Given the description of an element on the screen output the (x, y) to click on. 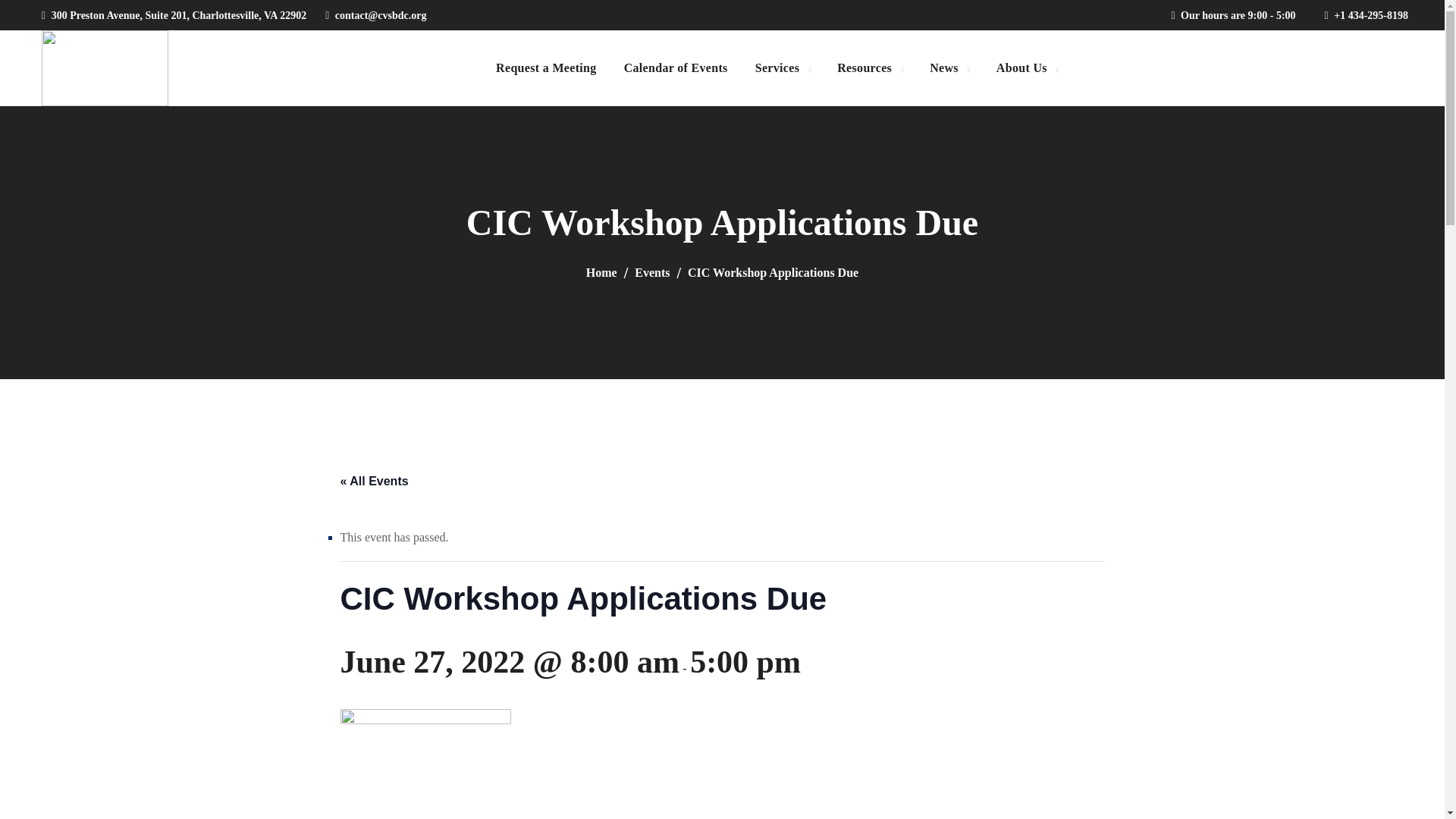
Calendar of Events (675, 68)
Search (1354, 143)
About Us (1026, 68)
Services (782, 68)
Resources (869, 68)
Request a Meeting (545, 68)
